Given the description of an element on the screen output the (x, y) to click on. 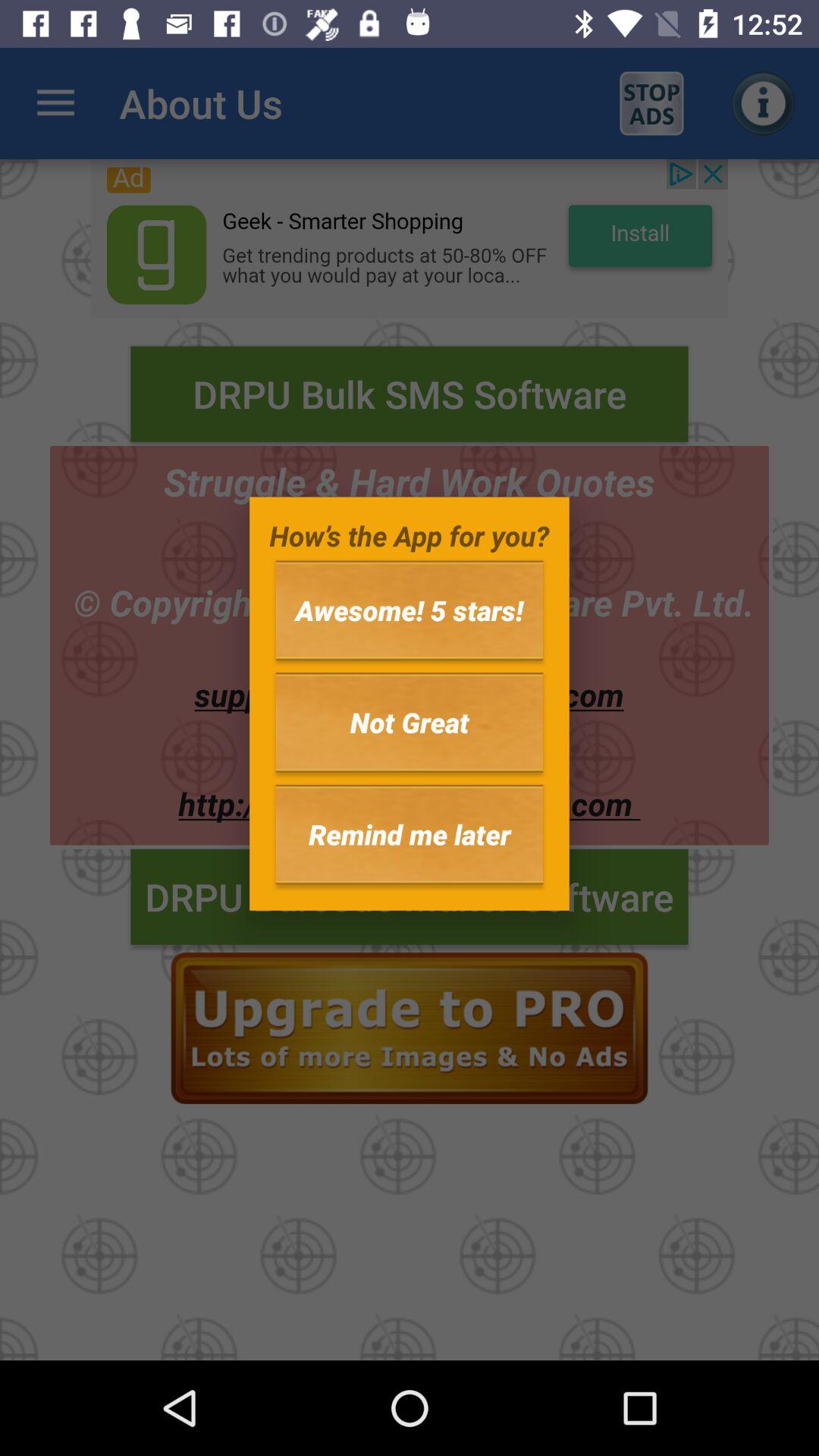
flip until remind me later icon (409, 834)
